Given the description of an element on the screen output the (x, y) to click on. 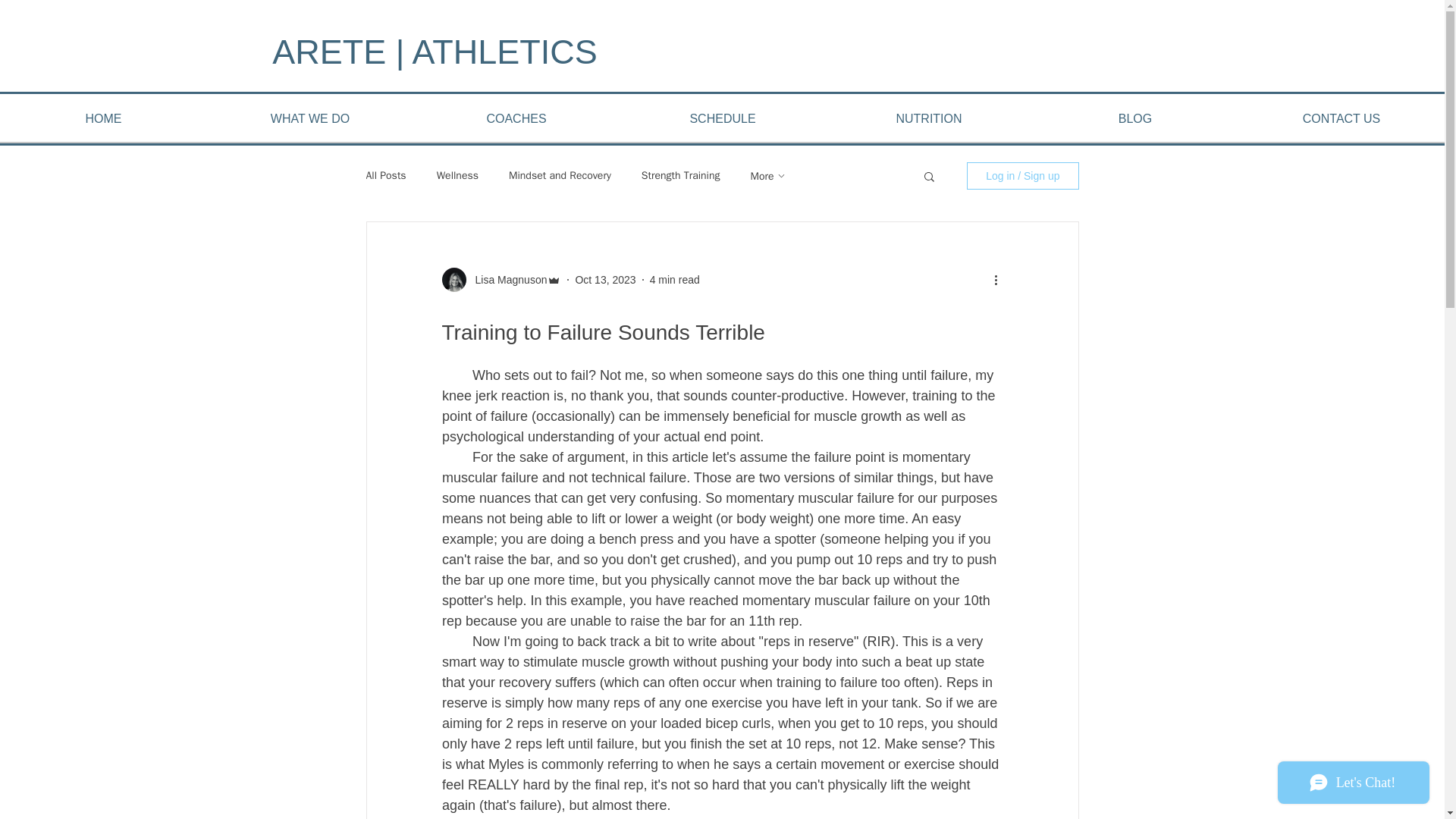
HOME (103, 118)
COACHES (516, 118)
Wellness (457, 175)
All Posts (385, 175)
WHAT WE DO (309, 118)
Oct 13, 2023 (604, 278)
Lisa Magnuson (506, 279)
Strength Training (681, 175)
SCHEDULE (722, 118)
4 min read (674, 278)
Mindset and Recovery (559, 175)
BLOG (1135, 118)
NUTRITION (928, 118)
